Given the description of an element on the screen output the (x, y) to click on. 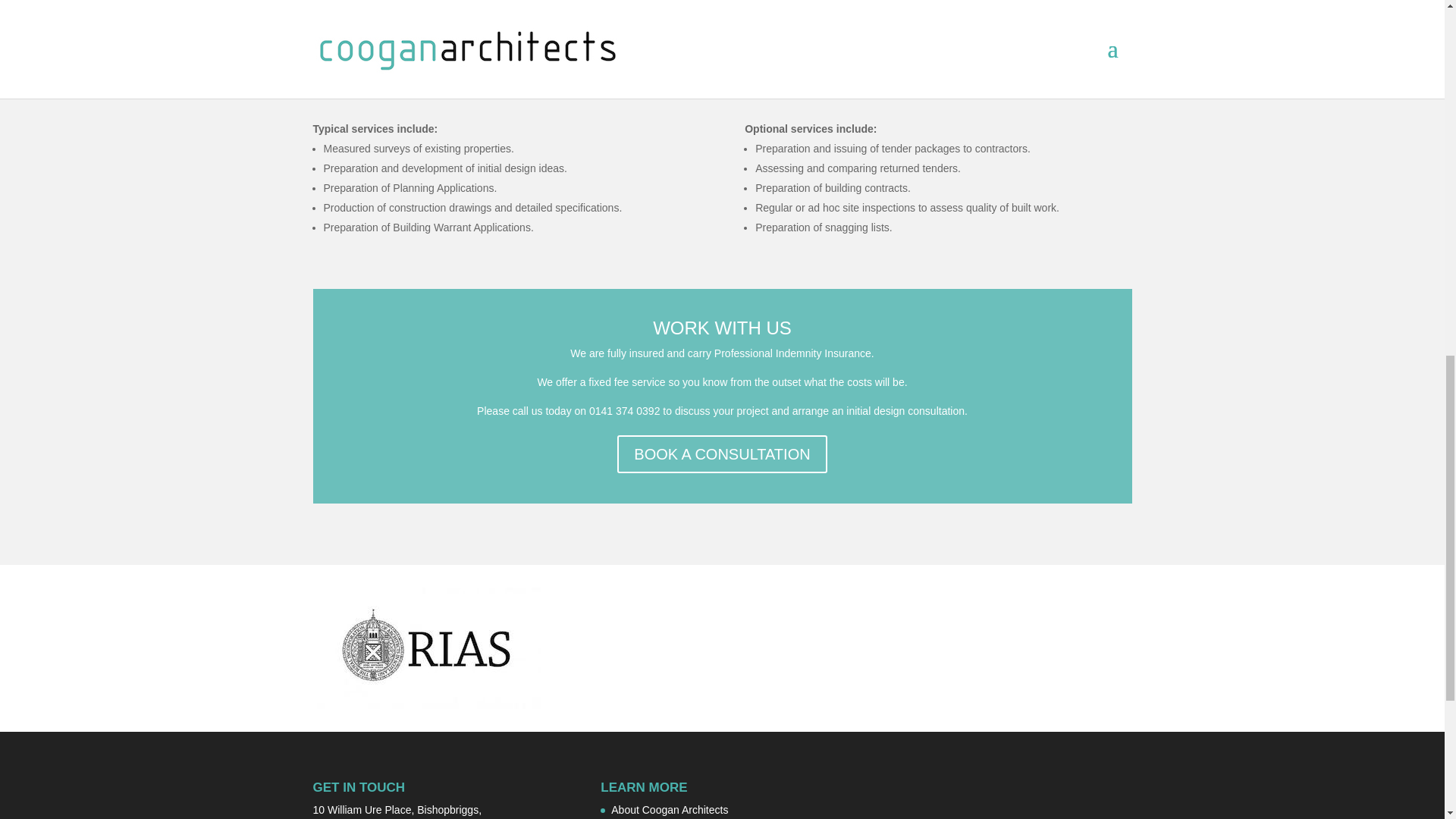
0141 374 0392 (624, 410)
BOOK A CONSULTATION (722, 453)
The Royal Incorporation of Architects in Scotland (426, 648)
About Coogan Architects (669, 809)
